Given the description of an element on the screen output the (x, y) to click on. 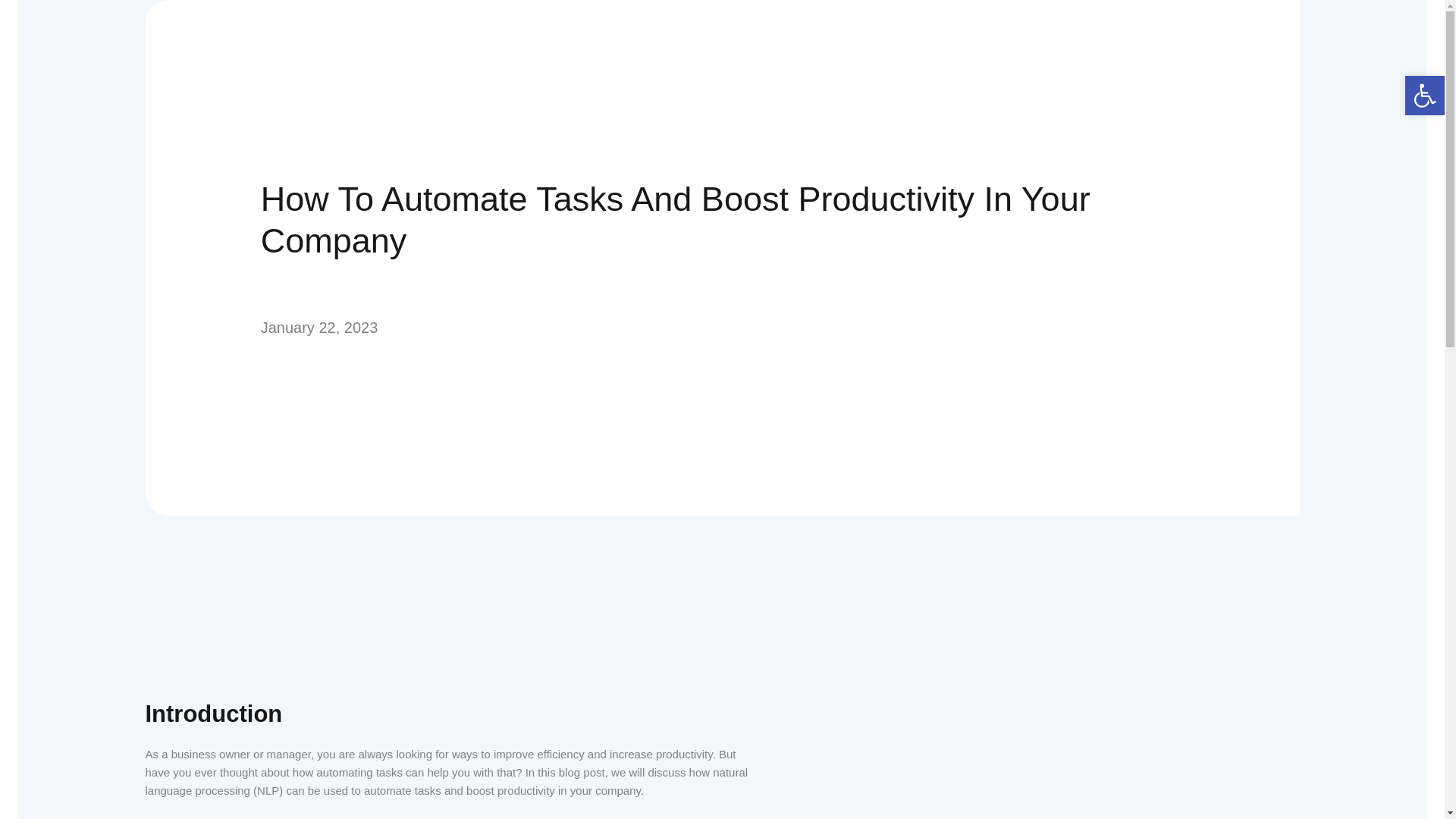
Sign in (722, 482)
